Given the description of an element on the screen output the (x, y) to click on. 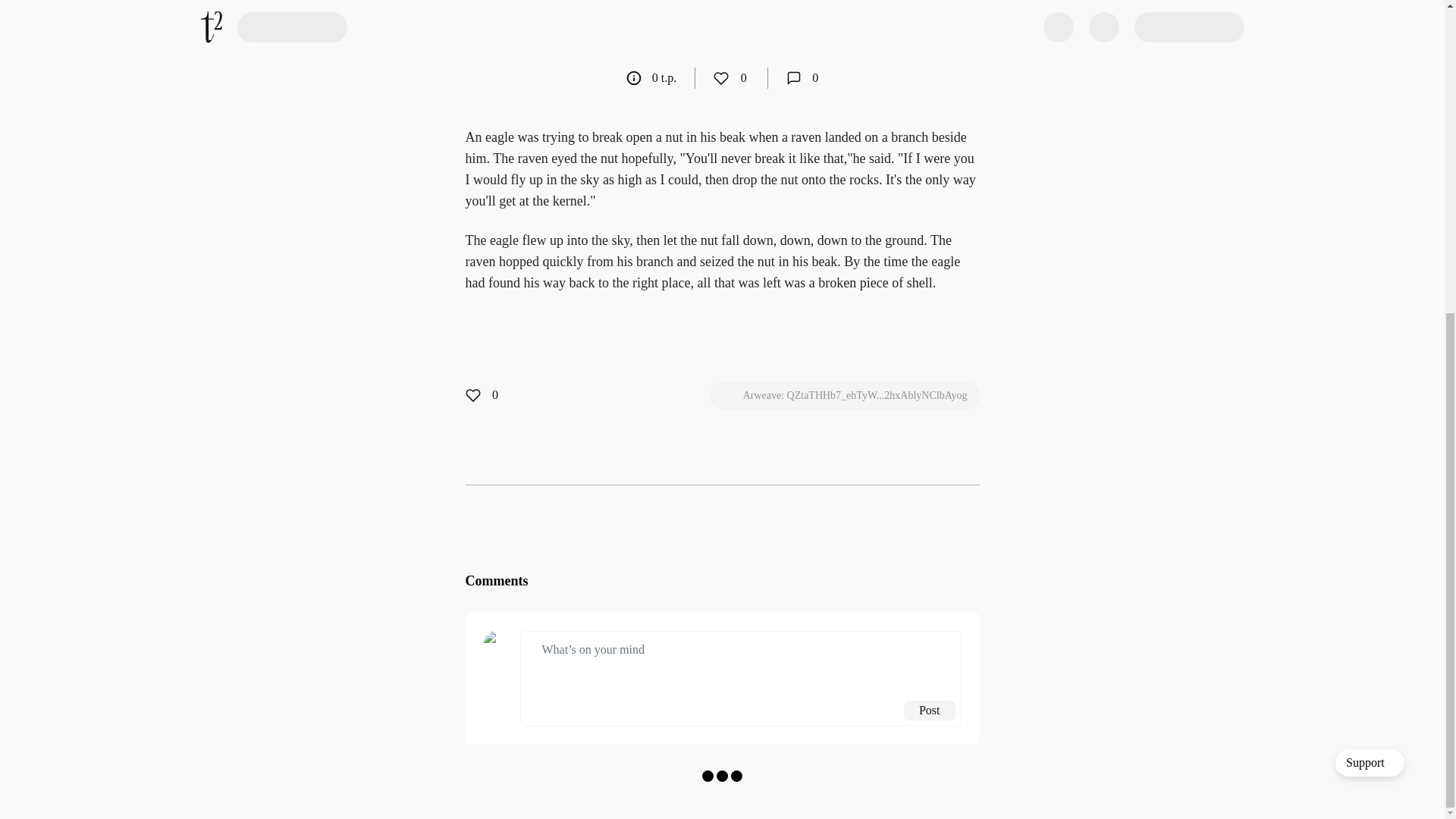
Post (929, 710)
Support (1370, 263)
0x416...d383c (585, 32)
0 (802, 77)
Lens (903, 31)
